Given the description of an element on the screen output the (x, y) to click on. 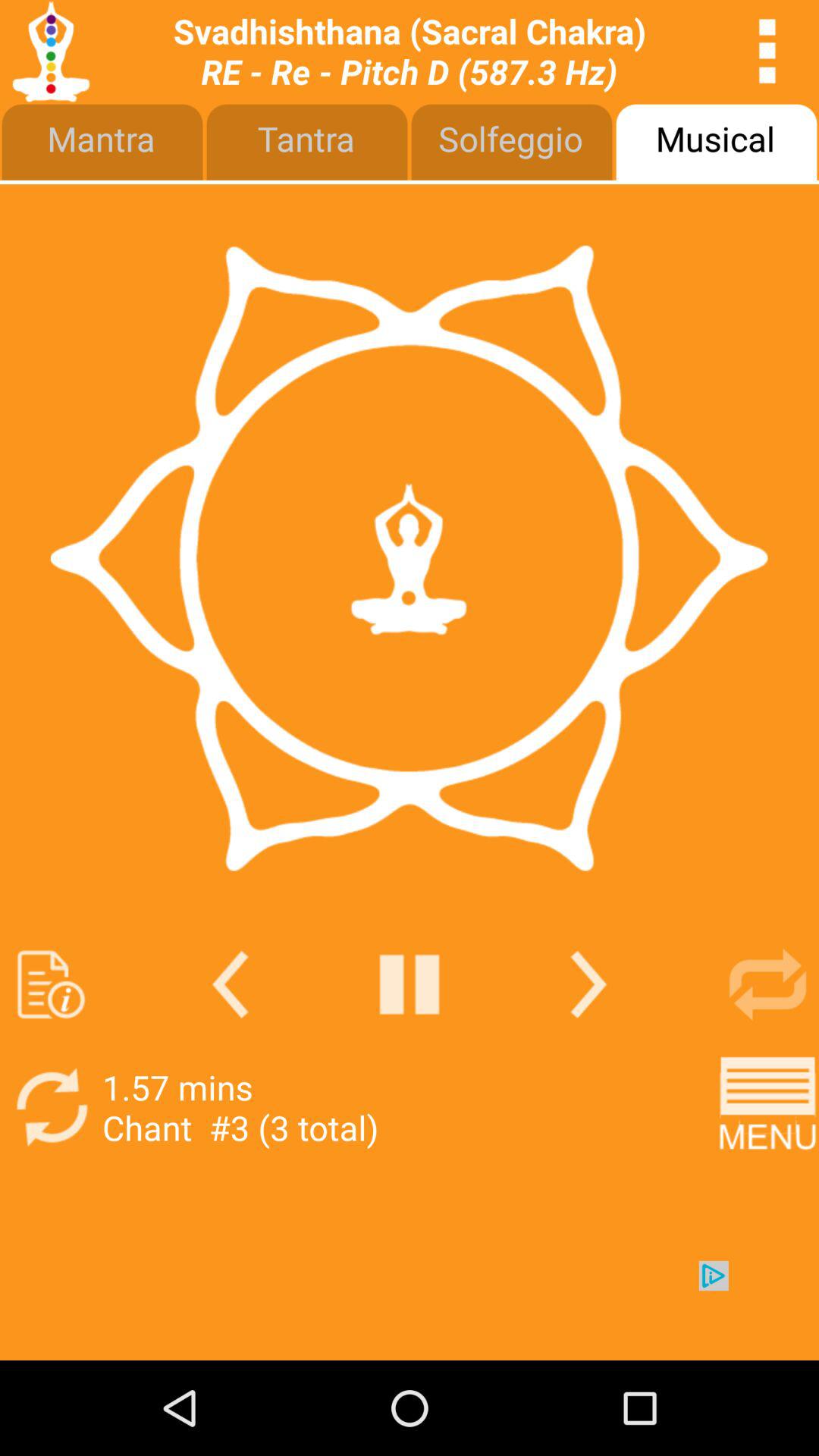
go to notes (51, 984)
